Given the description of an element on the screen output the (x, y) to click on. 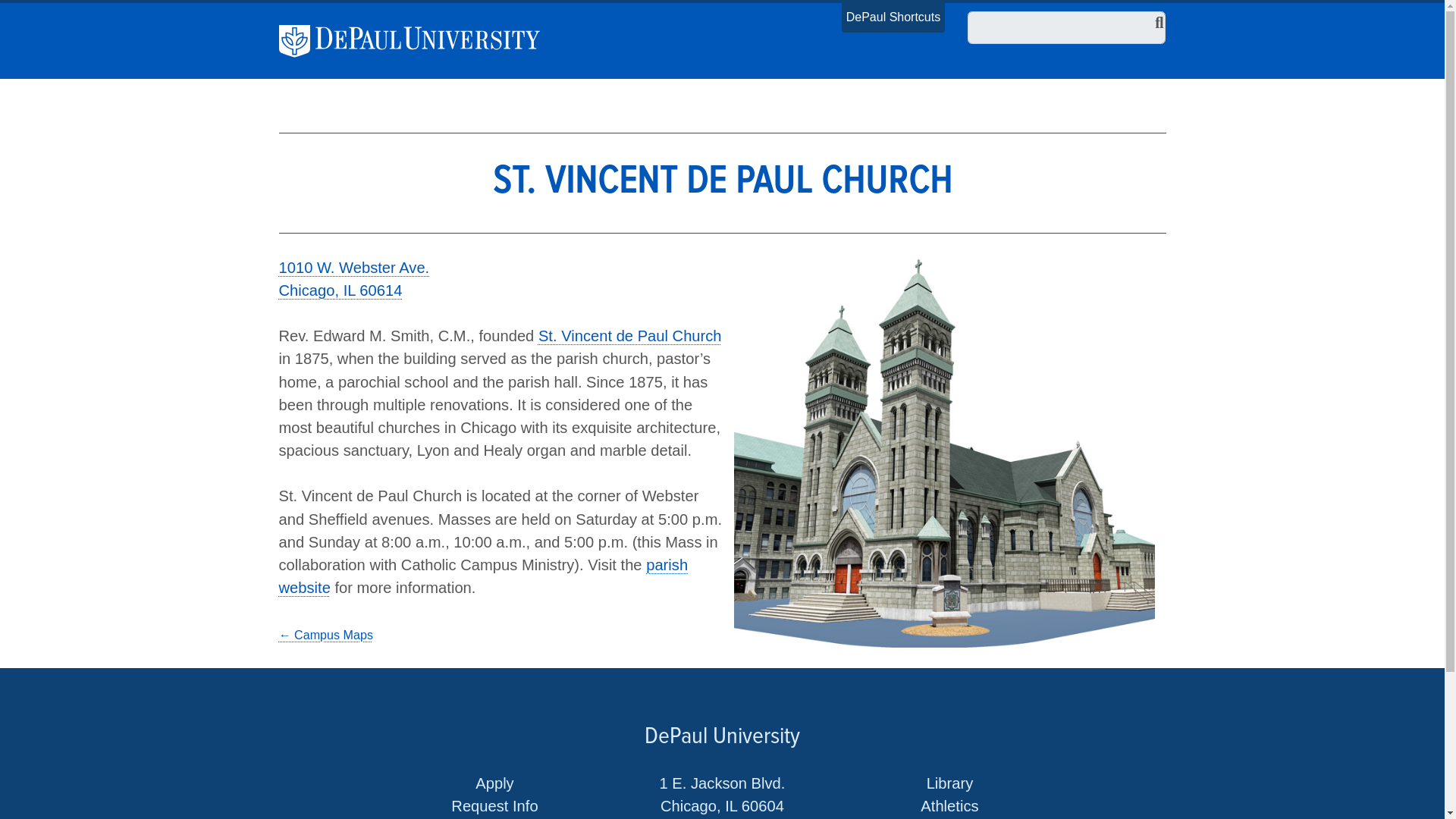
DePaul Shortcuts (892, 17)
DePaul University (418, 41)
